Given the description of an element on the screen output the (x, y) to click on. 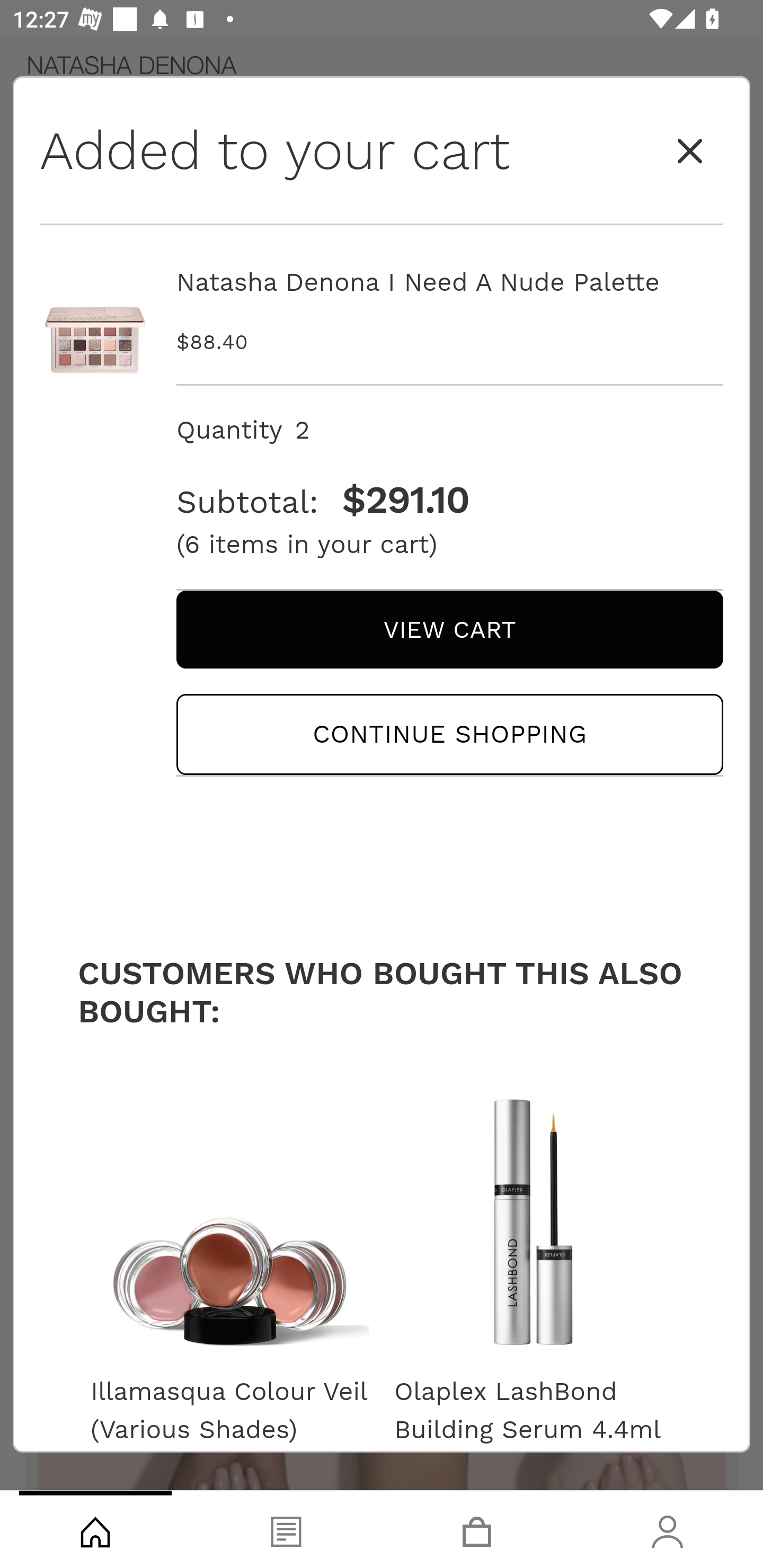
Close (689, 151)
Natasha Denona I Need A Nude Palette (95, 320)
Natasha Denona I Need A Nude Palette (449, 281)
VIEW CART (449, 629)
CONTINUE SHOPPING (449, 734)
Illamasqua Colour Veil (Various Shades) (229, 1405)
Olaplex LashBond Building Serum 4.4ml (533, 1405)
Shop, tab, 1 of 4 (95, 1529)
Blog, tab, 2 of 4 (285, 1529)
Basket, tab, 3 of 4 (476, 1529)
Account, tab, 4 of 4 (667, 1529)
